Given the description of an element on the screen output the (x, y) to click on. 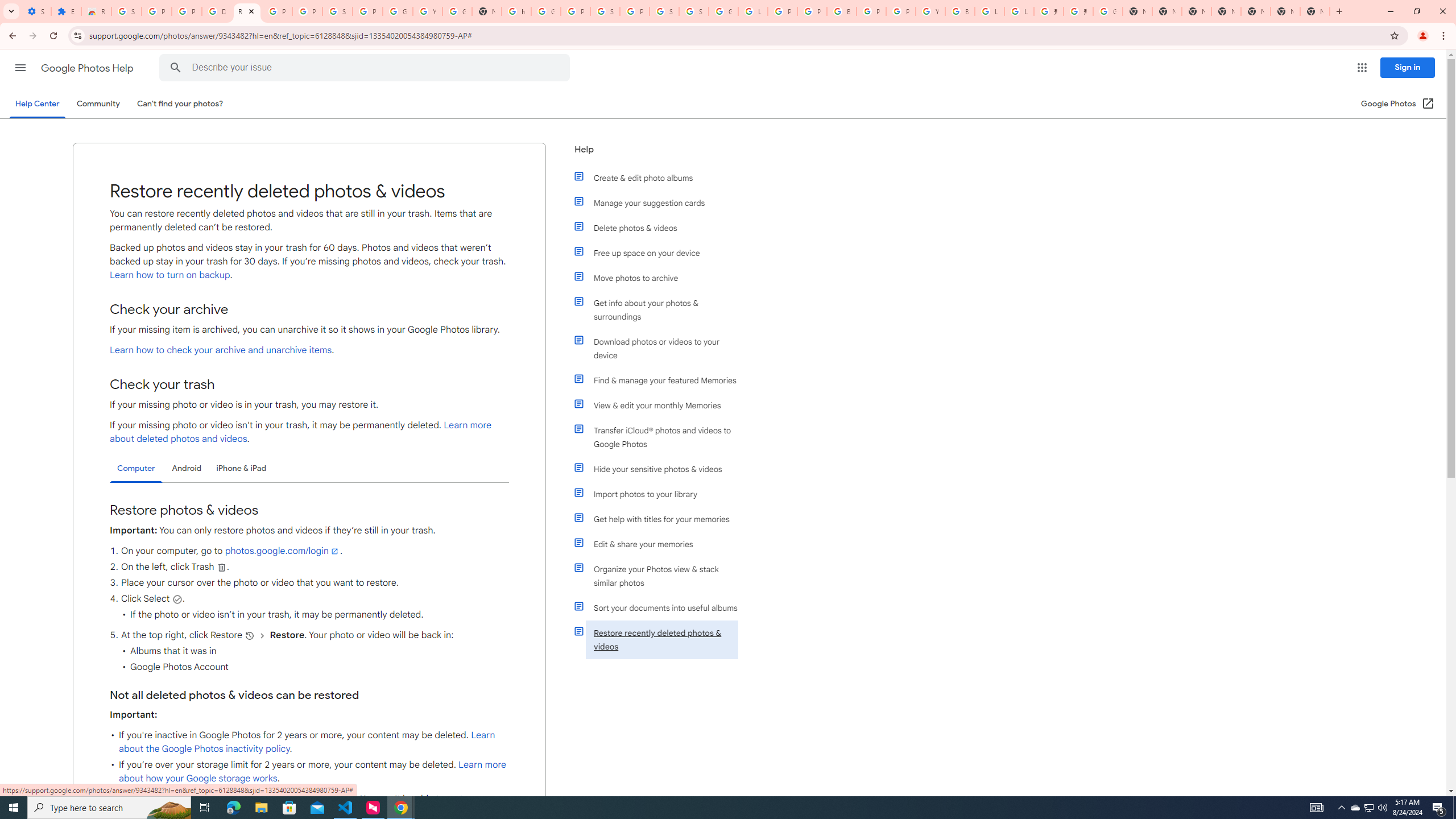
Reviews: Helix Fruit Jump Arcade Game (95, 11)
Sign in - Google Accounts (664, 11)
Delete (221, 566)
Google Images (1107, 11)
Sign in - Google Accounts (604, 11)
Find & manage your featured Memories (661, 380)
Learn how to turn on backup (169, 274)
Learn more about how your Google storage works (312, 771)
and then (262, 635)
